Given the description of an element on the screen output the (x, y) to click on. 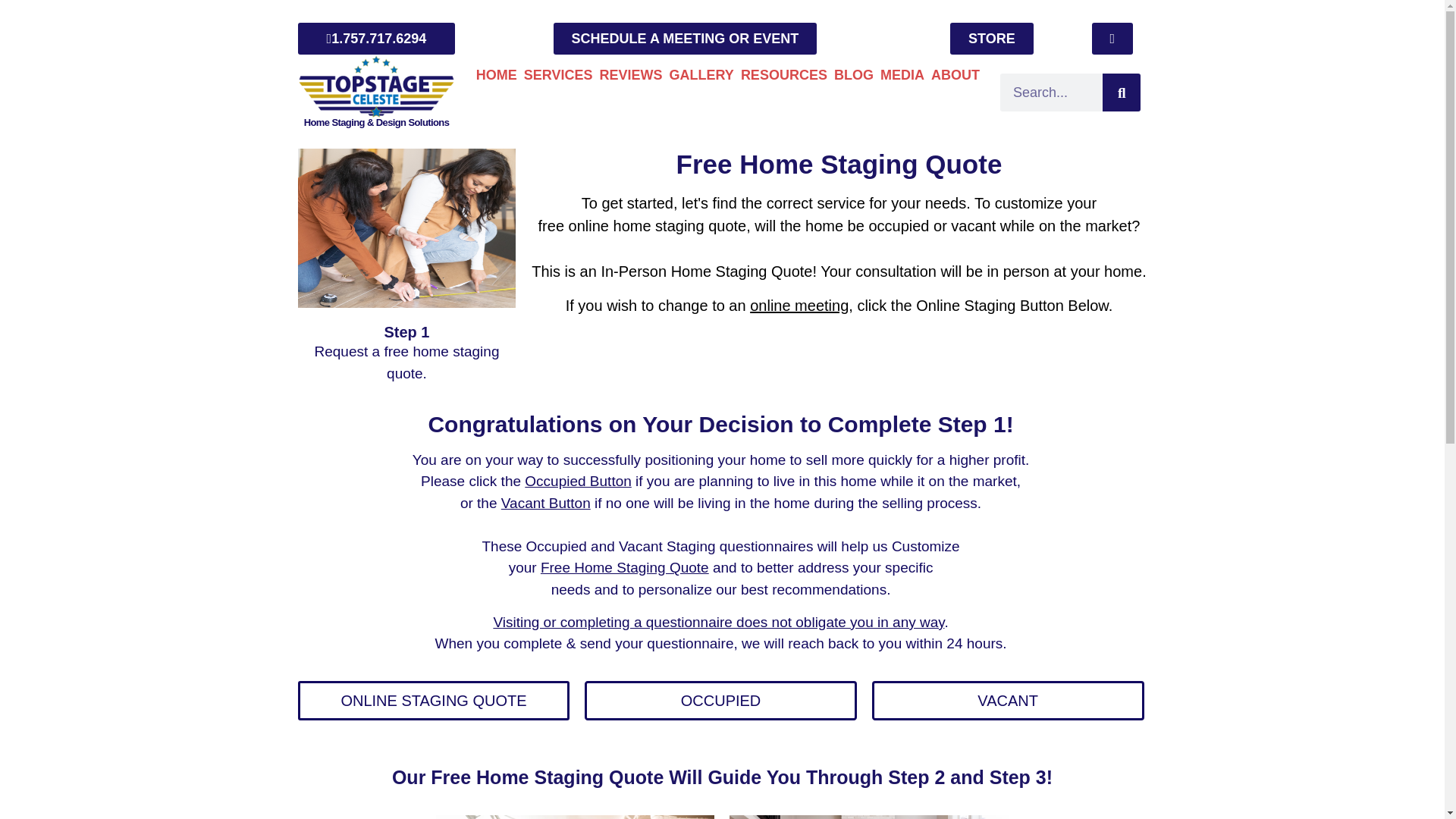
HOME (496, 74)
ONLINE STAGING QUOTE (433, 700)
1.757.717.6294 (375, 38)
MEDIA (902, 74)
RESOURCES (783, 74)
VACANT (1008, 700)
BLOG (853, 74)
SCHEDULE A MEETING OR EVENT (684, 38)
REVIEWS (630, 74)
ABOUT (955, 74)
STORE (991, 38)
OCCUPIED (720, 700)
SERVICES (558, 74)
GALLERY (701, 74)
